Given the description of an element on the screen output the (x, y) to click on. 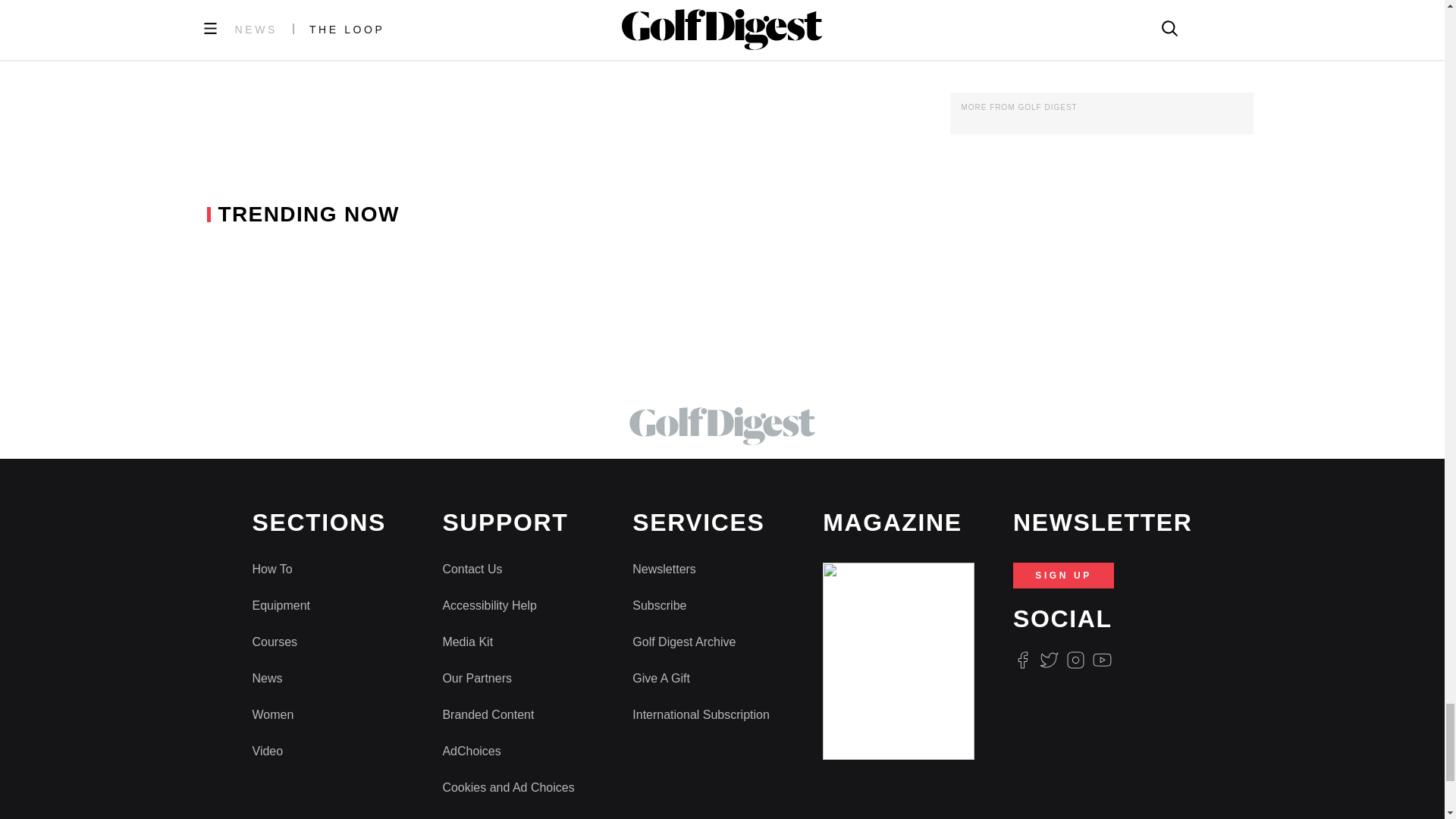
Youtube Icon (1102, 659)
Facebook Logo (1022, 659)
Twitter Logo (1048, 659)
Instagram Logo (1074, 659)
